Given the description of an element on the screen output the (x, y) to click on. 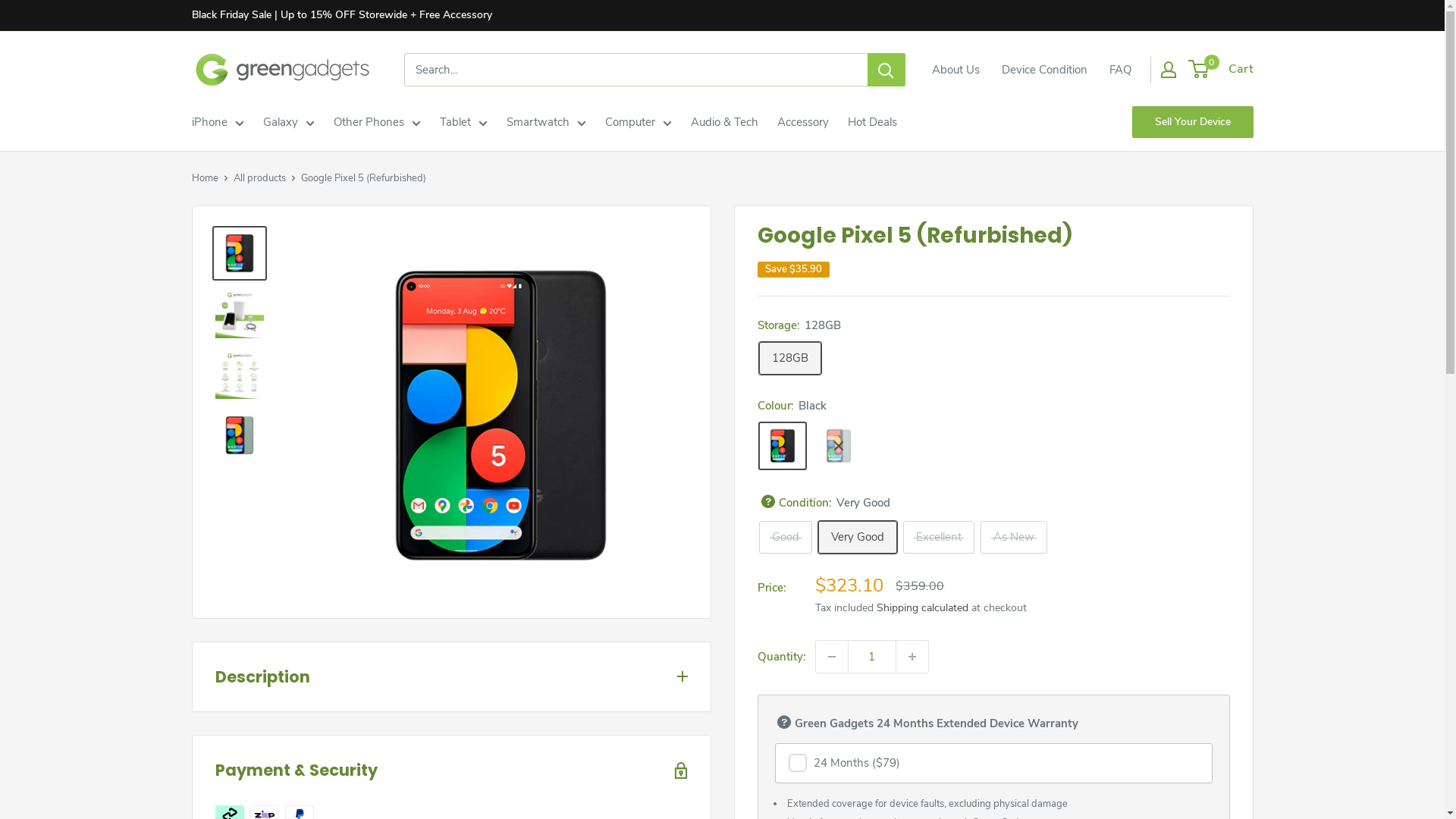
Shipping calculated Element type: text (922, 607)
Green Element type: hover (838, 445)
0
Cart Element type: text (1220, 69)
Smartwatch Element type: text (546, 121)
Accessory Element type: text (802, 121)
Sell Your Device Element type: text (1191, 122)
Increase quantity by 1 Element type: hover (912, 656)
About Us Element type: text (955, 69)
All products Element type: text (259, 178)
Device Condition Element type: text (1043, 69)
Computer Element type: text (638, 121)
FAQ Element type: text (1119, 69)
Other Phones Element type: text (376, 121)
Green Gadgets Element type: text (282, 69)
Decrease quantity by 1 Element type: hover (831, 656)
Galaxy Element type: text (287, 121)
Black Element type: hover (782, 445)
Description Element type: text (451, 677)
Home Element type: text (204, 178)
iPhone Element type: text (217, 121)
Audio & Tech Element type: text (723, 121)
Tablet Element type: text (463, 121)
